Given the description of an element on the screen output the (x, y) to click on. 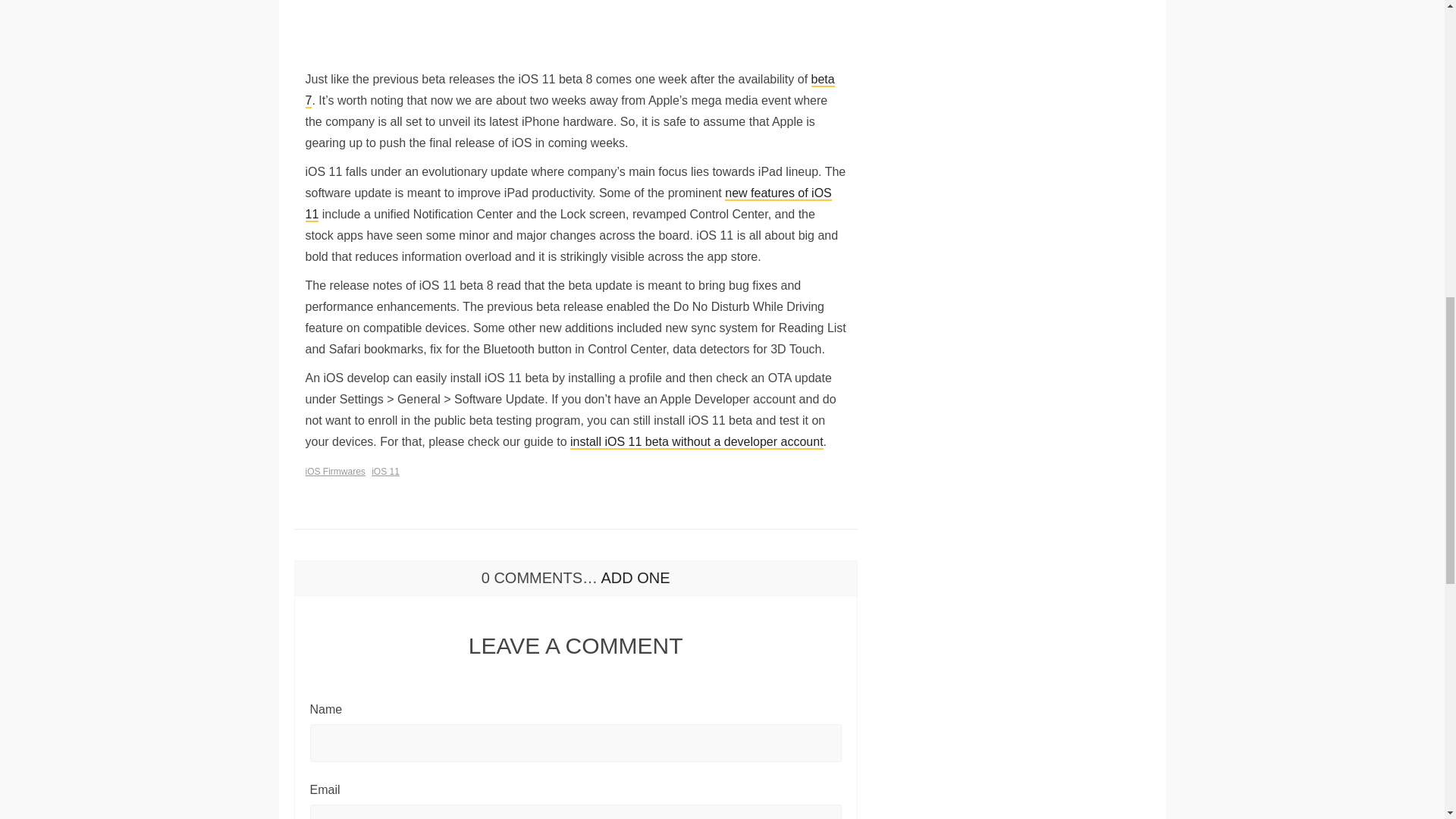
beta 7 (569, 90)
